Given the description of an element on the screen output the (x, y) to click on. 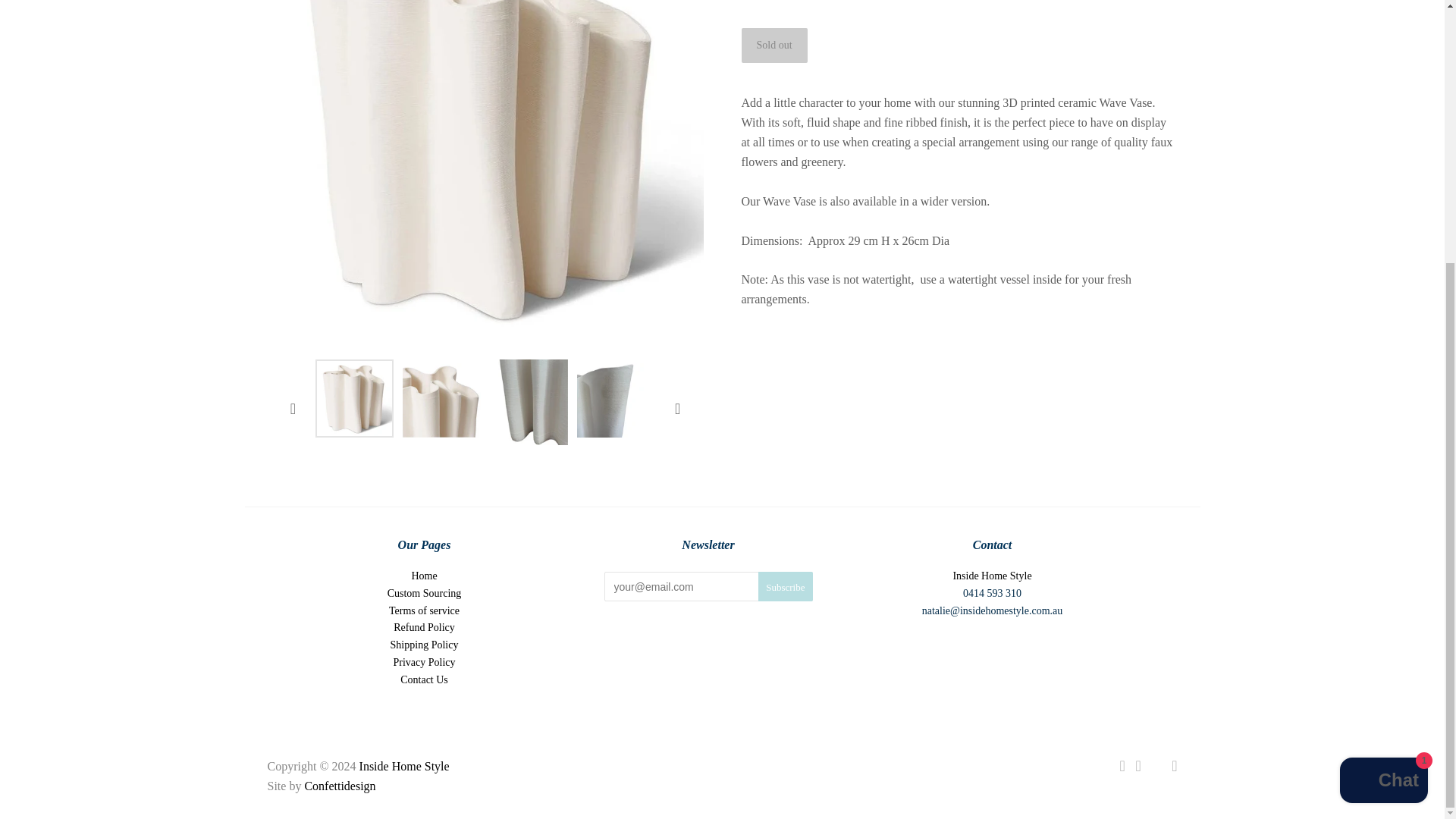
Subscribe (785, 586)
Shopify online store chat (1383, 403)
Sold out (774, 45)
